Given the description of an element on the screen output the (x, y) to click on. 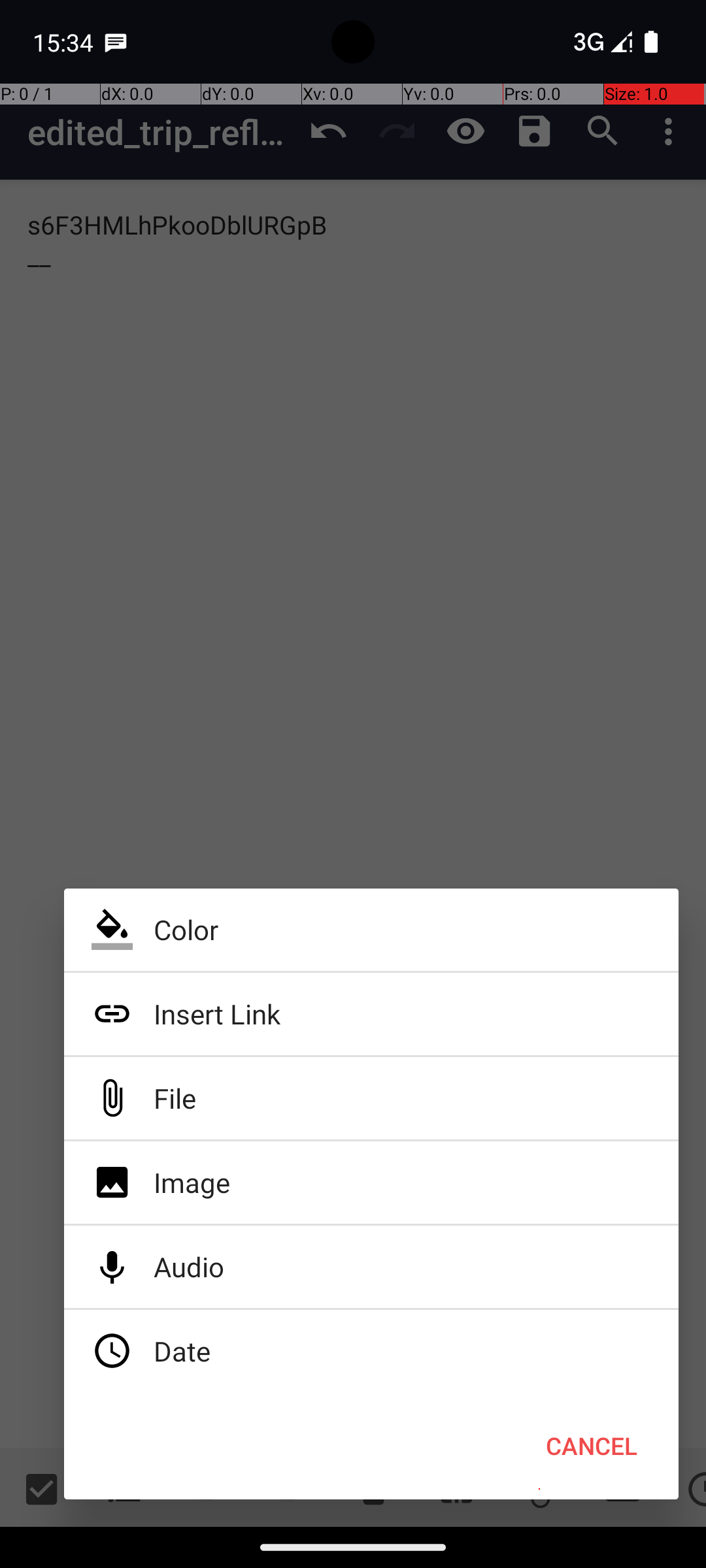
Insert Link Element type: android.widget.TextView (371, 1013)
File Element type: android.widget.TextView (371, 1098)
Image Element type: android.widget.TextView (371, 1182)
